Given the description of an element on the screen output the (x, y) to click on. 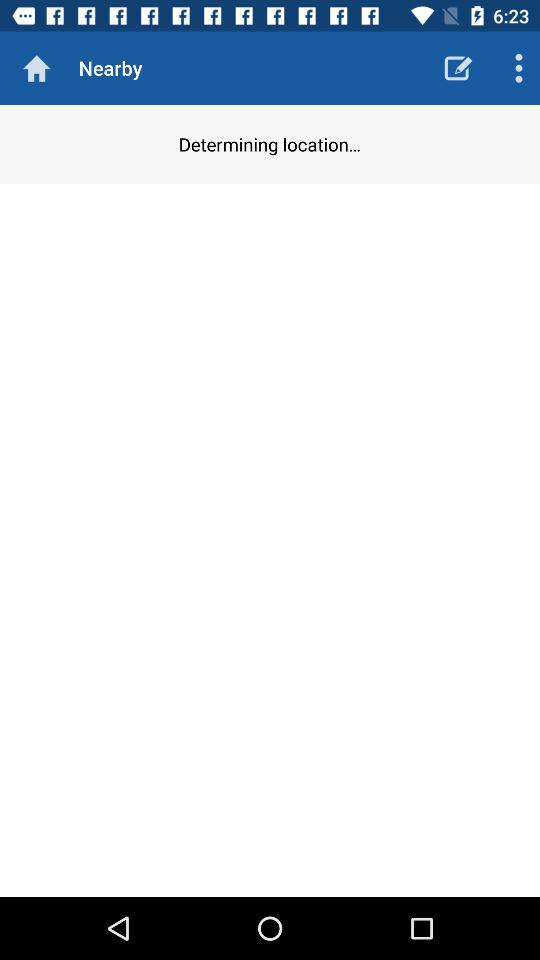
turn off the app to the left of the nearby (36, 68)
